Given the description of an element on the screen output the (x, y) to click on. 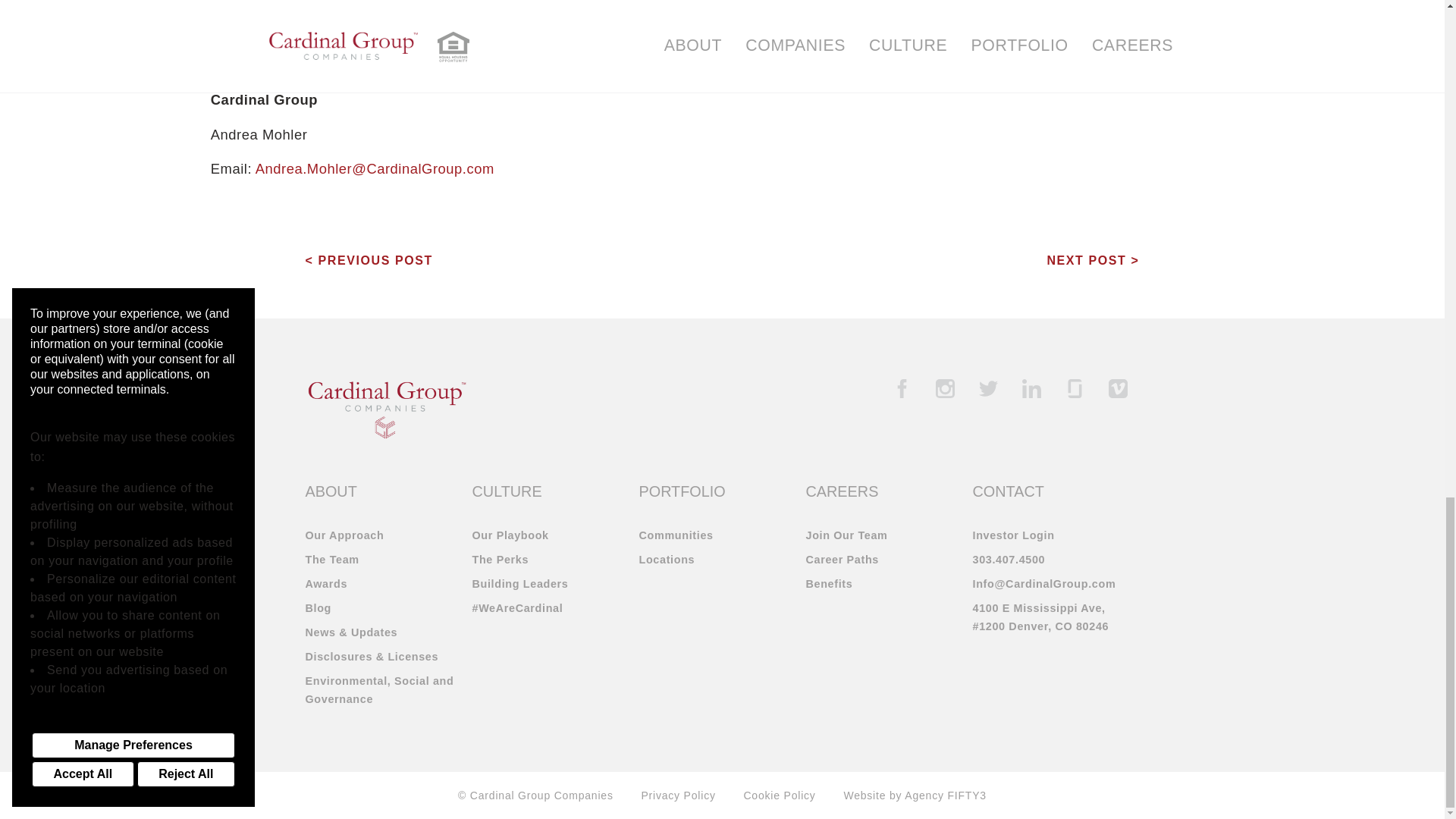
www.CardinalGroup.com (690, 30)
